Given the description of an element on the screen output the (x, y) to click on. 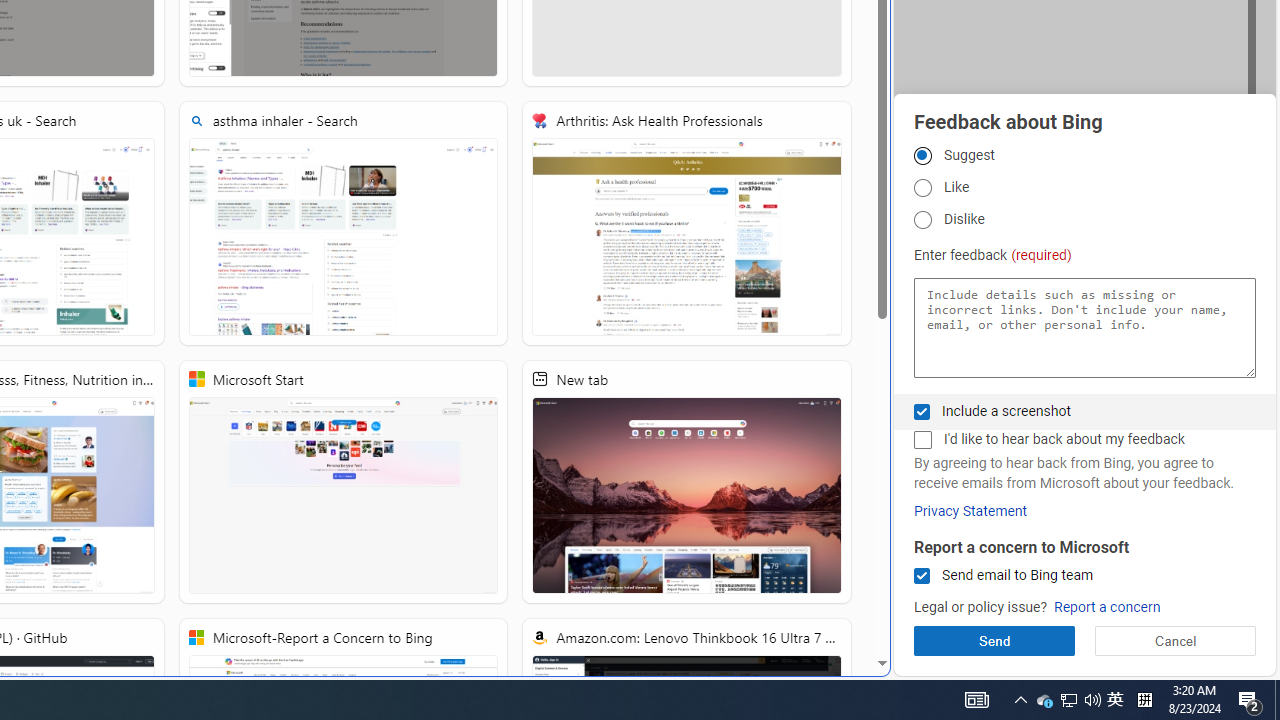
I'd like to hear back about my feedback (922, 440)
Send (994, 640)
Report a concern (1106, 607)
Cancel (1174, 640)
Like (922, 188)
Arthritis: Ask Health Professionals (687, 223)
Dislike (922, 219)
asthma inhaler - Search (343, 223)
Suggest (922, 155)
Privacy Statement (970, 511)
Include a screenshot (921, 411)
Send email to Bing team (921, 575)
